Given the description of an element on the screen output the (x, y) to click on. 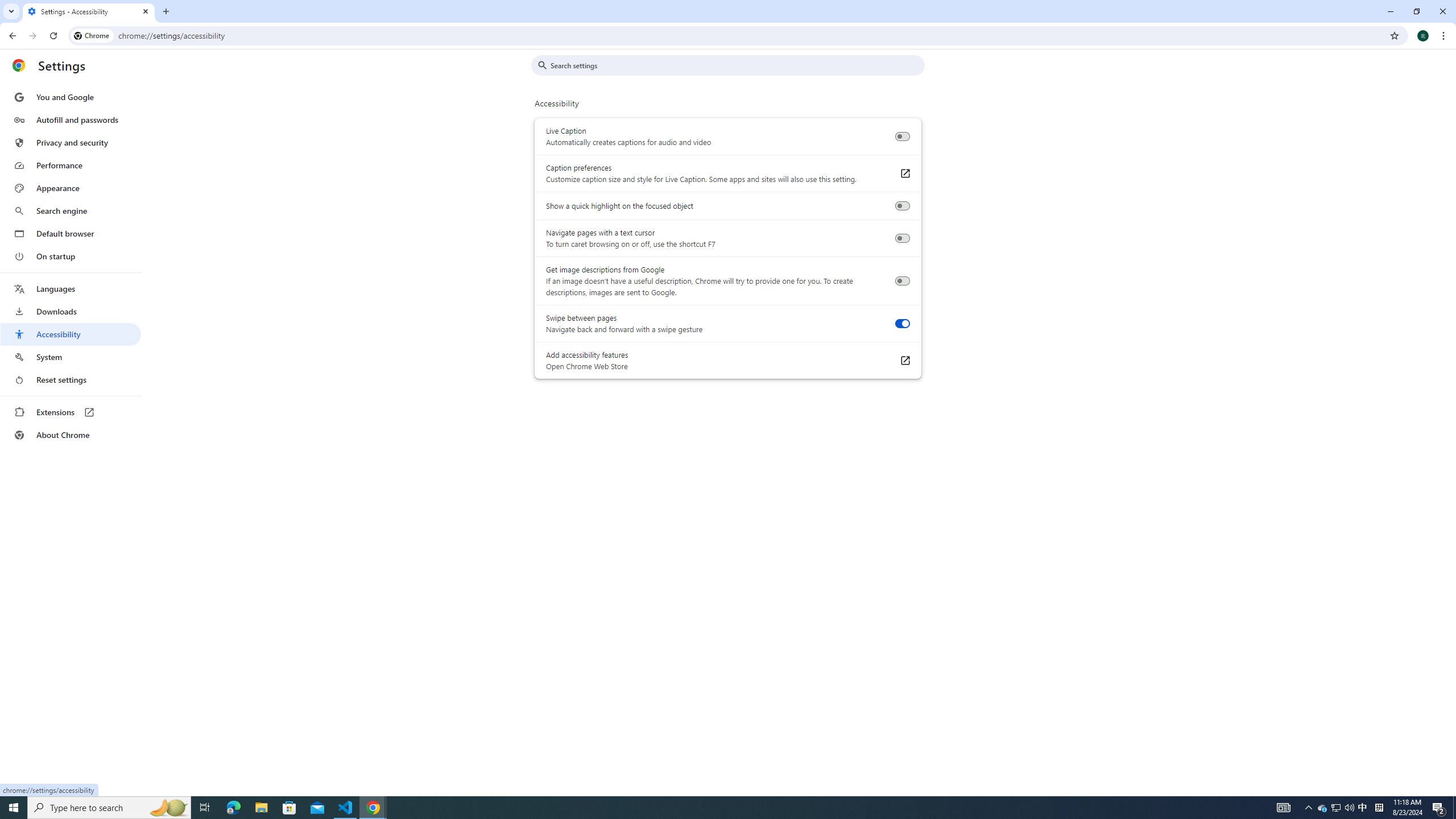
Extensions (70, 412)
On startup (70, 255)
Accessibility (70, 333)
Search settings (735, 65)
Swipe between pages (901, 323)
